Given the description of an element on the screen output the (x, y) to click on. 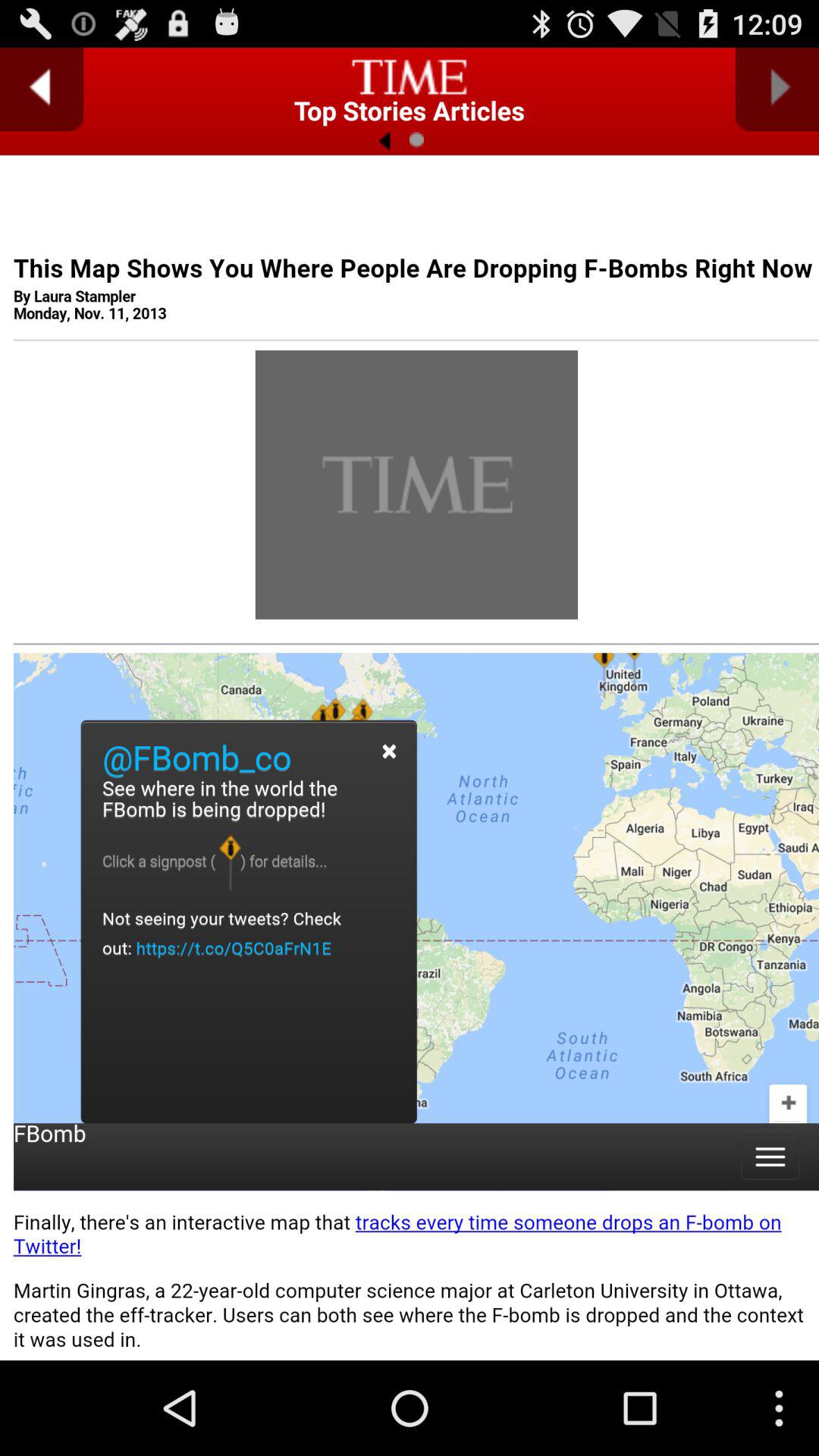
go to next (777, 89)
